Given the description of an element on the screen output the (x, y) to click on. 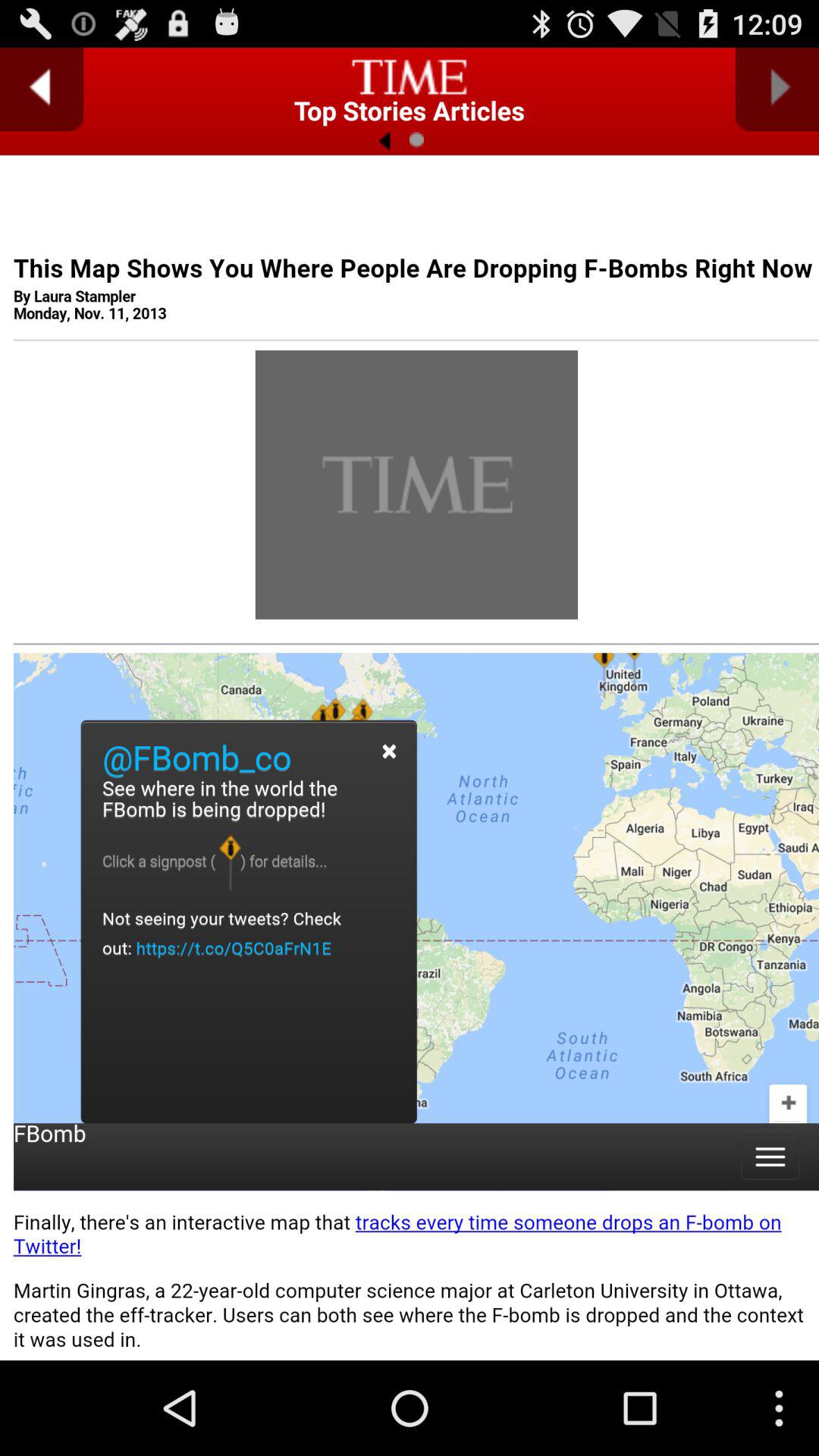
go to next (777, 89)
